Given the description of an element on the screen output the (x, y) to click on. 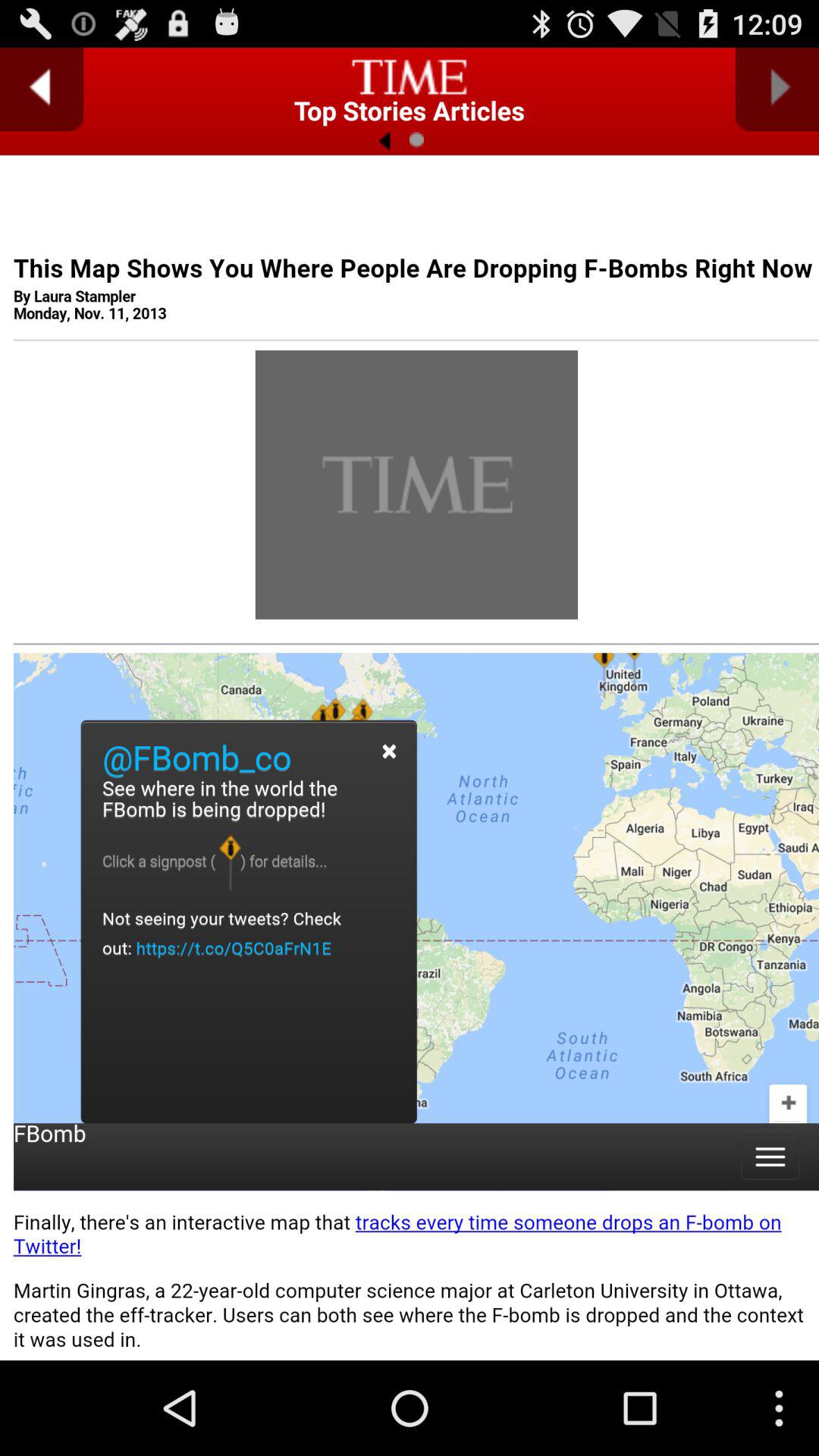
go to next (777, 89)
